Given the description of an element on the screen output the (x, y) to click on. 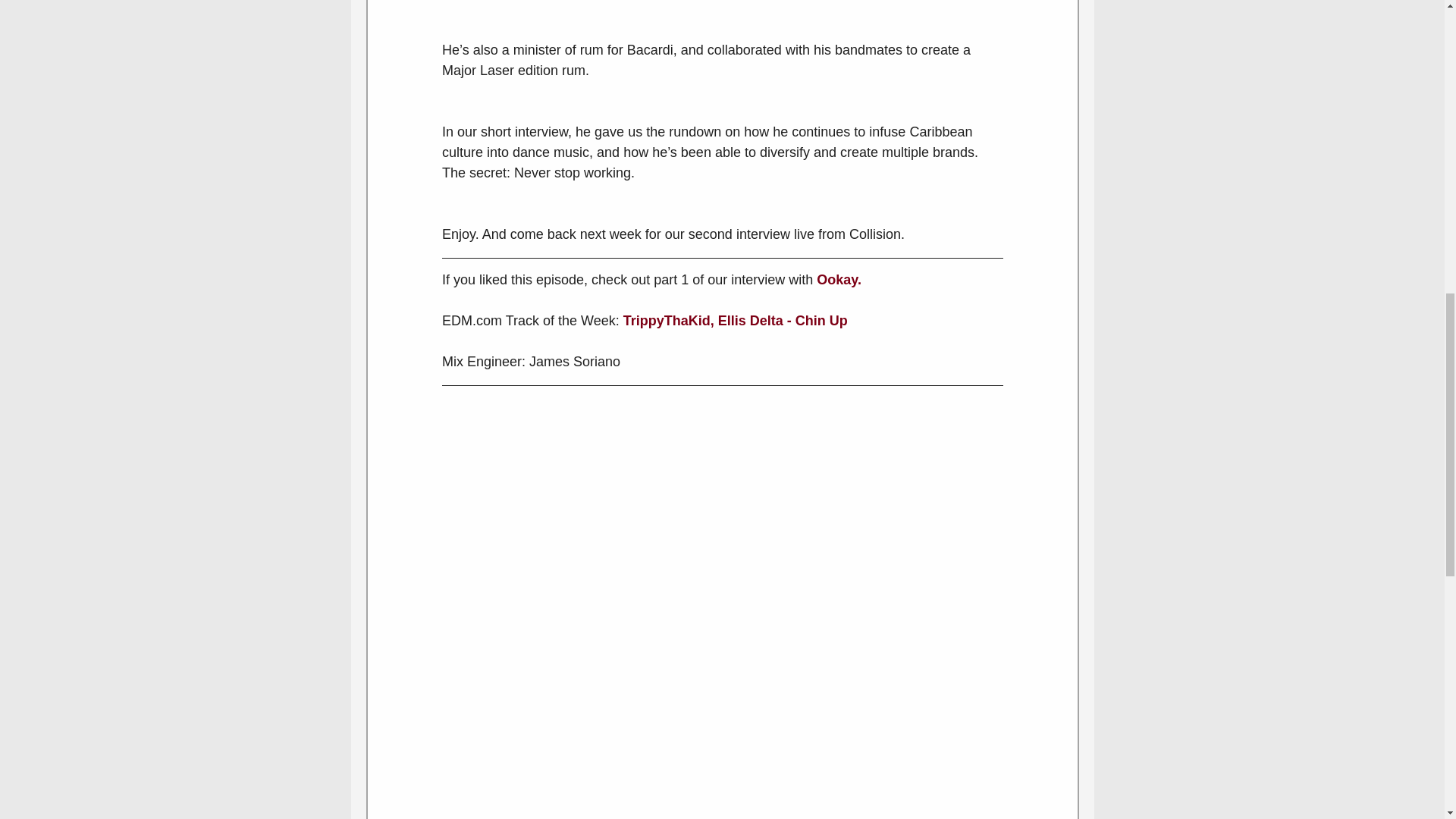
Ookay. (838, 278)
TrippyThaKid, Ellis Delta - Chin Up (735, 319)
